Given the description of an element on the screen output the (x, y) to click on. 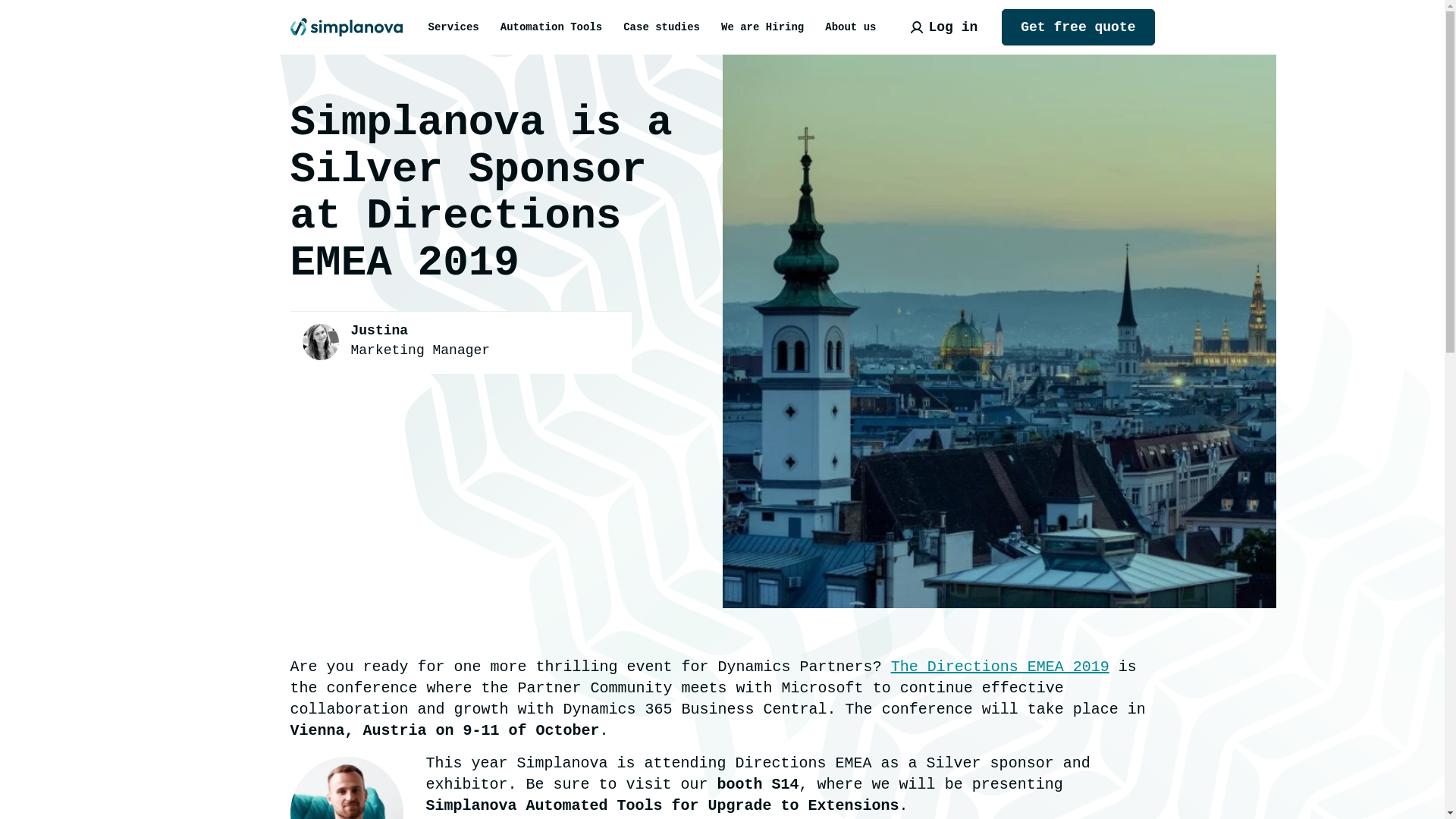
The Directions EMEA 2019 (1000, 666)
About us (849, 27)
Services (453, 27)
Log in (943, 26)
Get free quote (1077, 27)
Automation Tools (550, 27)
Case studies (661, 27)
We are Hiring (761, 27)
Simplanova (345, 18)
Simplanova (345, 18)
